Given the description of an element on the screen output the (x, y) to click on. 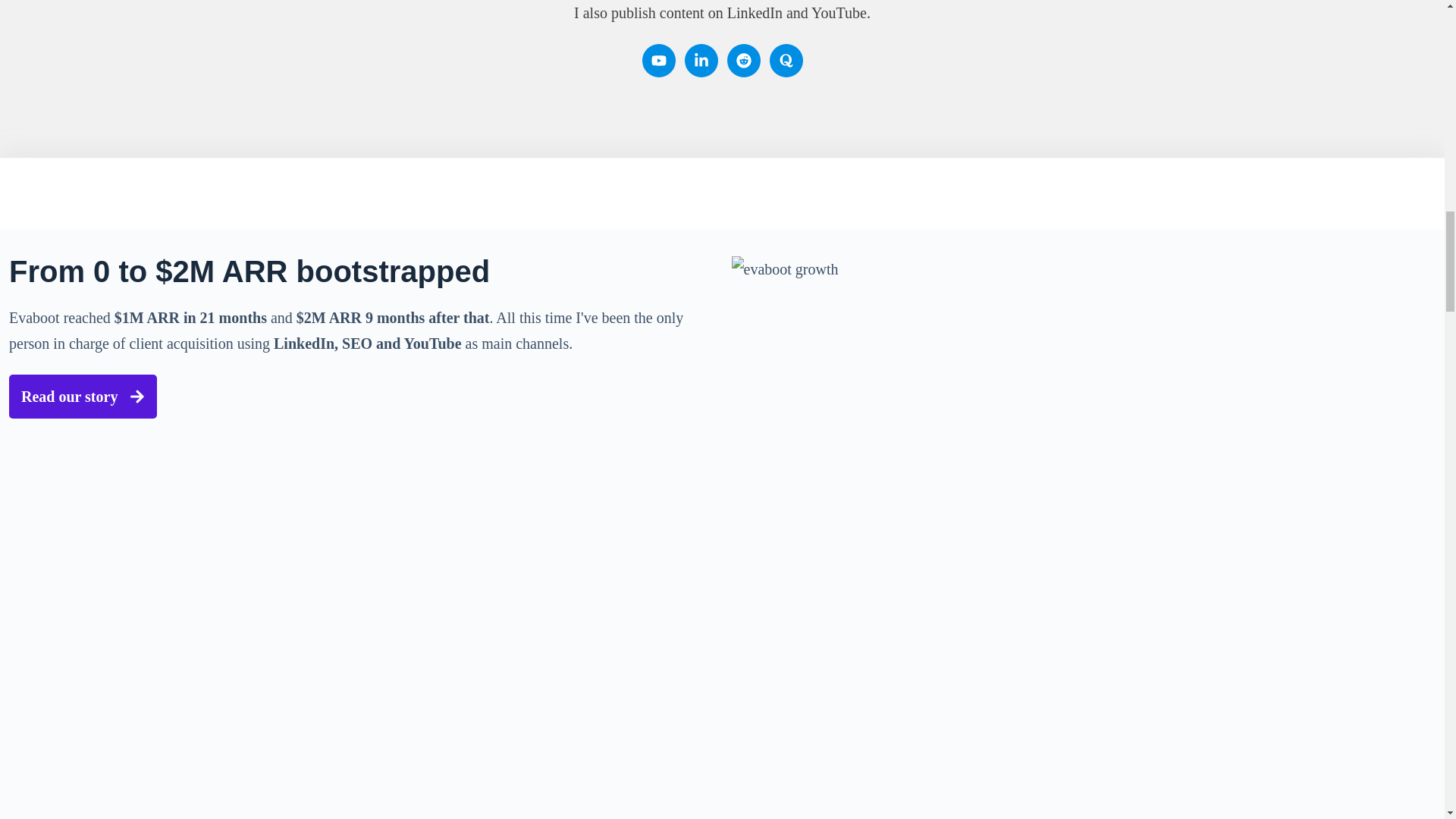
Visit my LinkedIn Profile (869, 803)
Read our story (359, 243)
